Given the description of an element on the screen output the (x, y) to click on. 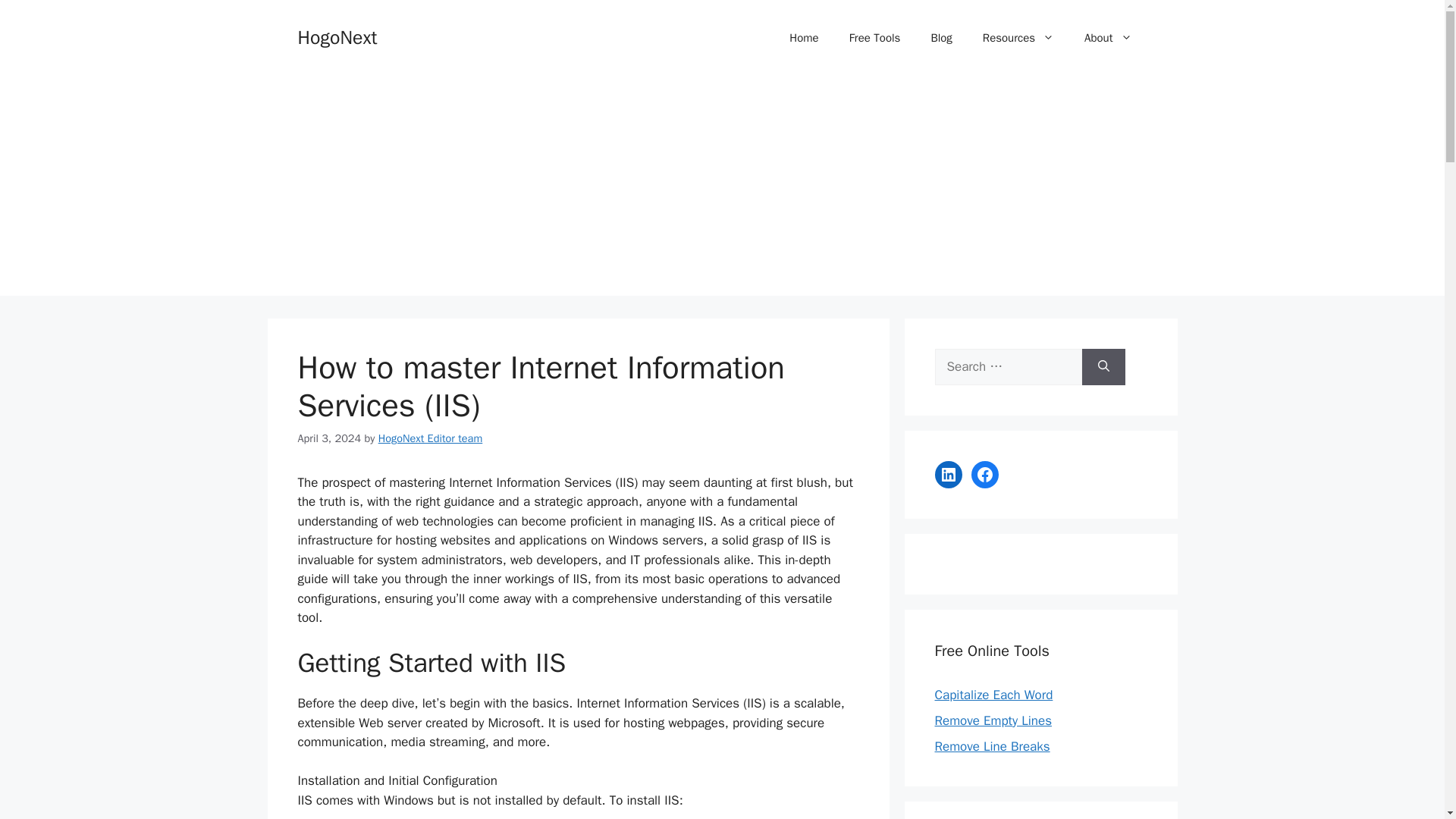
Remove Line Breaks (991, 746)
Facebook (984, 474)
Free Tools (874, 37)
Capitalize Each Word (993, 694)
HogoNext (337, 37)
Resources (1018, 37)
Blog (940, 37)
HogoNext Editor team (430, 438)
Remove Empty Lines (992, 720)
Home (803, 37)
Search for: (1007, 366)
View all posts by HogoNext Editor team (430, 438)
LinkedIn (947, 474)
About (1107, 37)
